Given the description of an element on the screen output the (x, y) to click on. 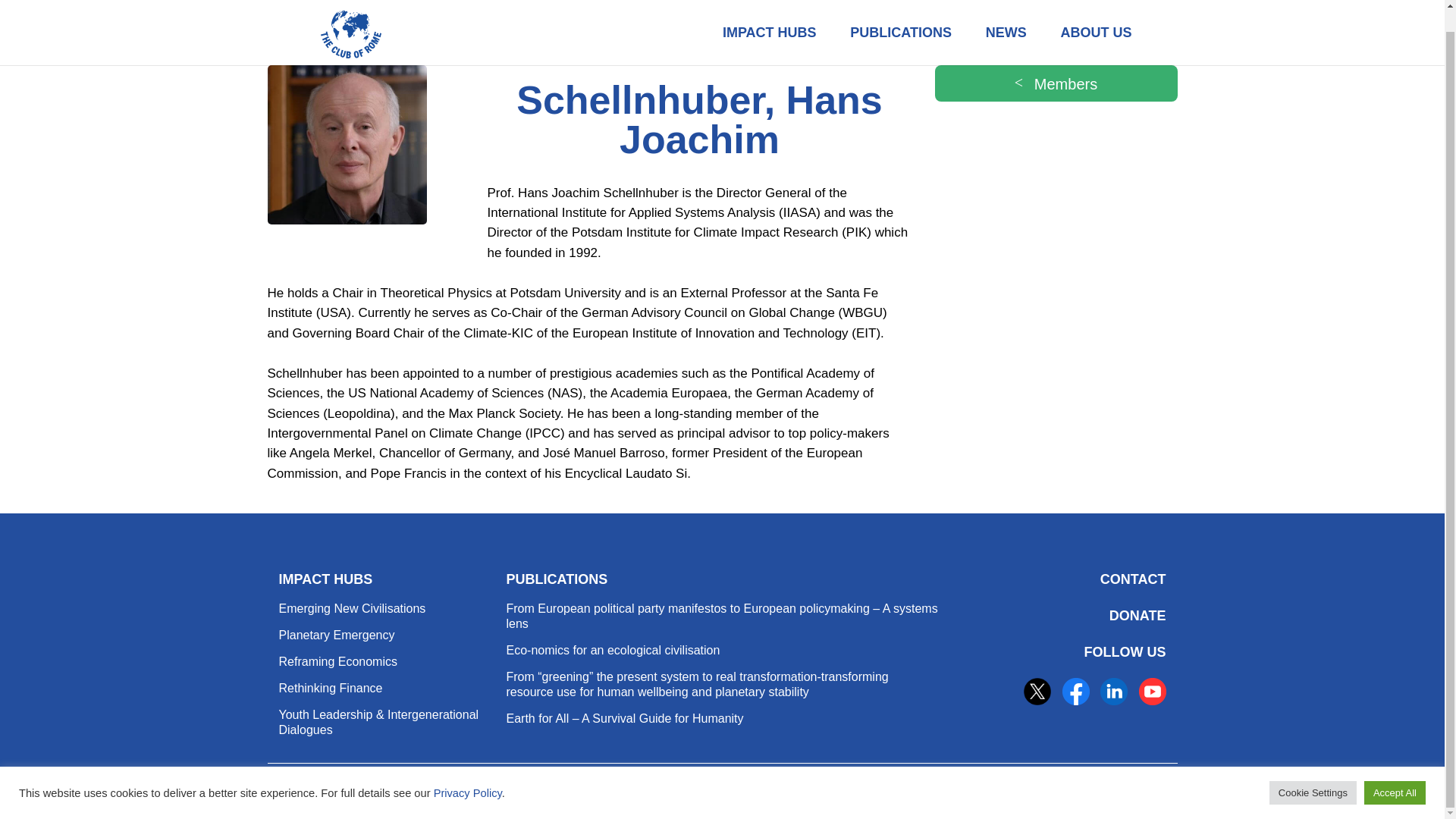
YouTube (1152, 691)
IMPACT HUBS (769, 22)
Schellnhuber (346, 144)
ABOUT US (1096, 22)
Twitter (1037, 691)
Facebook (1075, 691)
NEWS (1006, 22)
PUBLICATIONS (900, 22)
LinkedIn (1113, 691)
